Given the description of an element on the screen output the (x, y) to click on. 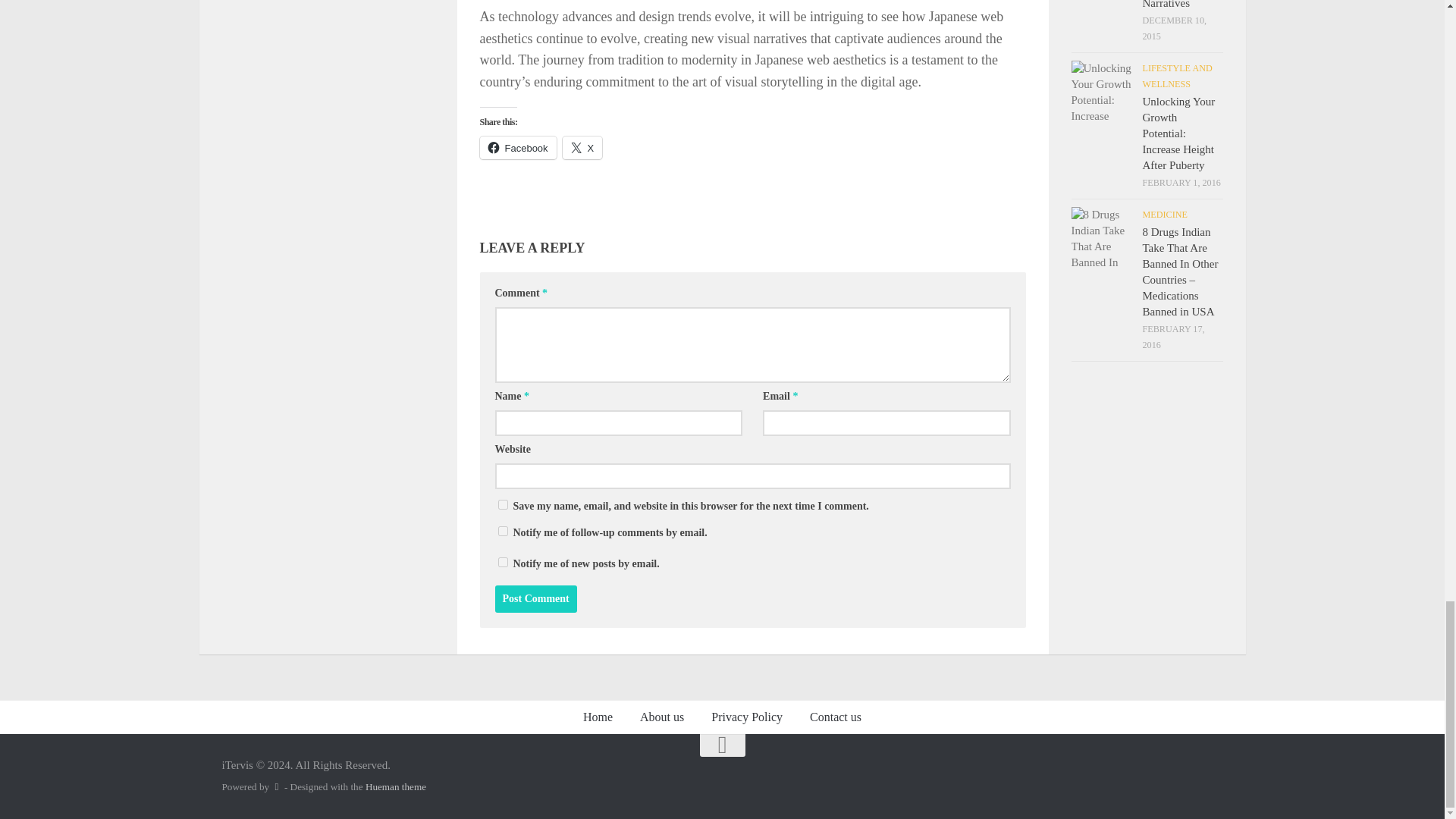
Click to share on X (582, 147)
Facebook (517, 147)
Post Comment (535, 598)
Click to share on Facebook (517, 147)
subscribe (501, 531)
Powered by WordPress (275, 786)
X (582, 147)
Hueman theme (395, 786)
yes (501, 504)
subscribe (501, 562)
